Given the description of an element on the screen output the (x, y) to click on. 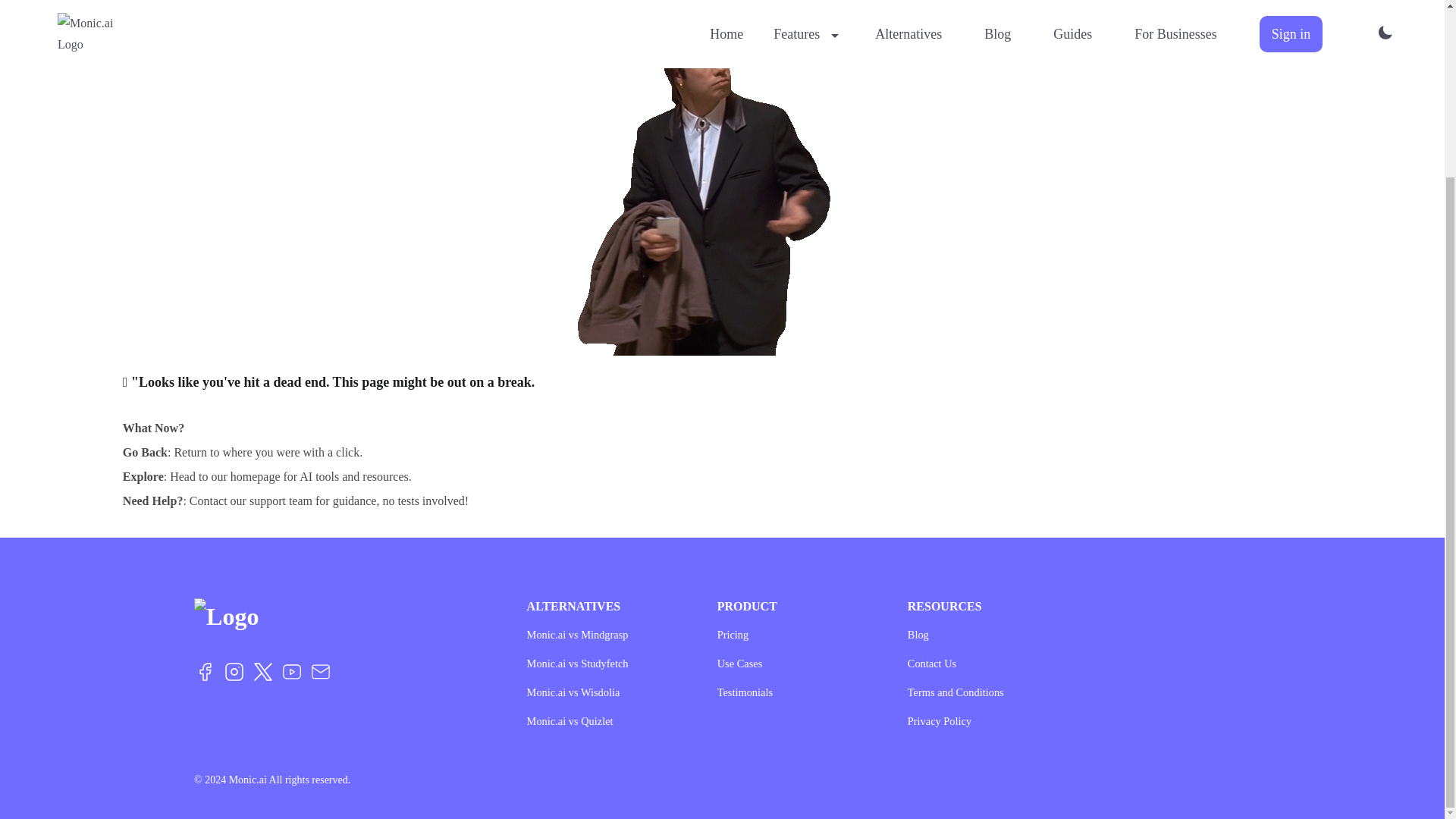
Privacy Policy (983, 720)
Monic.ai vs Wisdolia (603, 692)
Use Cases (793, 663)
Blog (983, 634)
Monic.ai vs Quizlet (603, 720)
Testimonials (793, 692)
Monic.ai vs Mindgrasp (603, 634)
Monic.ai vs Studyfetch (603, 663)
Terms and Conditions (983, 692)
Pricing (793, 634)
Contact Us (983, 663)
